Given the description of an element on the screen output the (x, y) to click on. 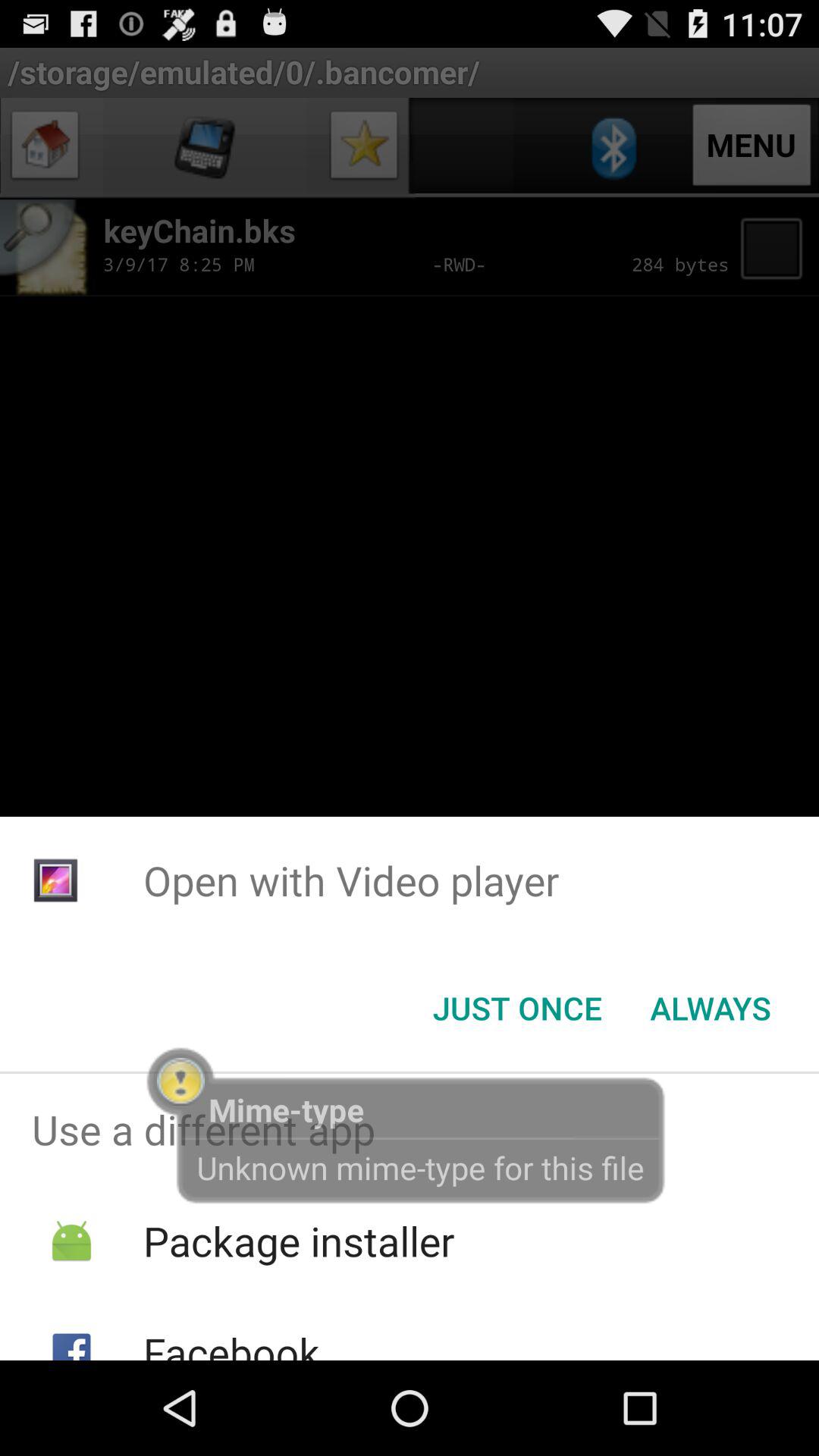
swipe until the package installer (298, 1240)
